Given the description of an element on the screen output the (x, y) to click on. 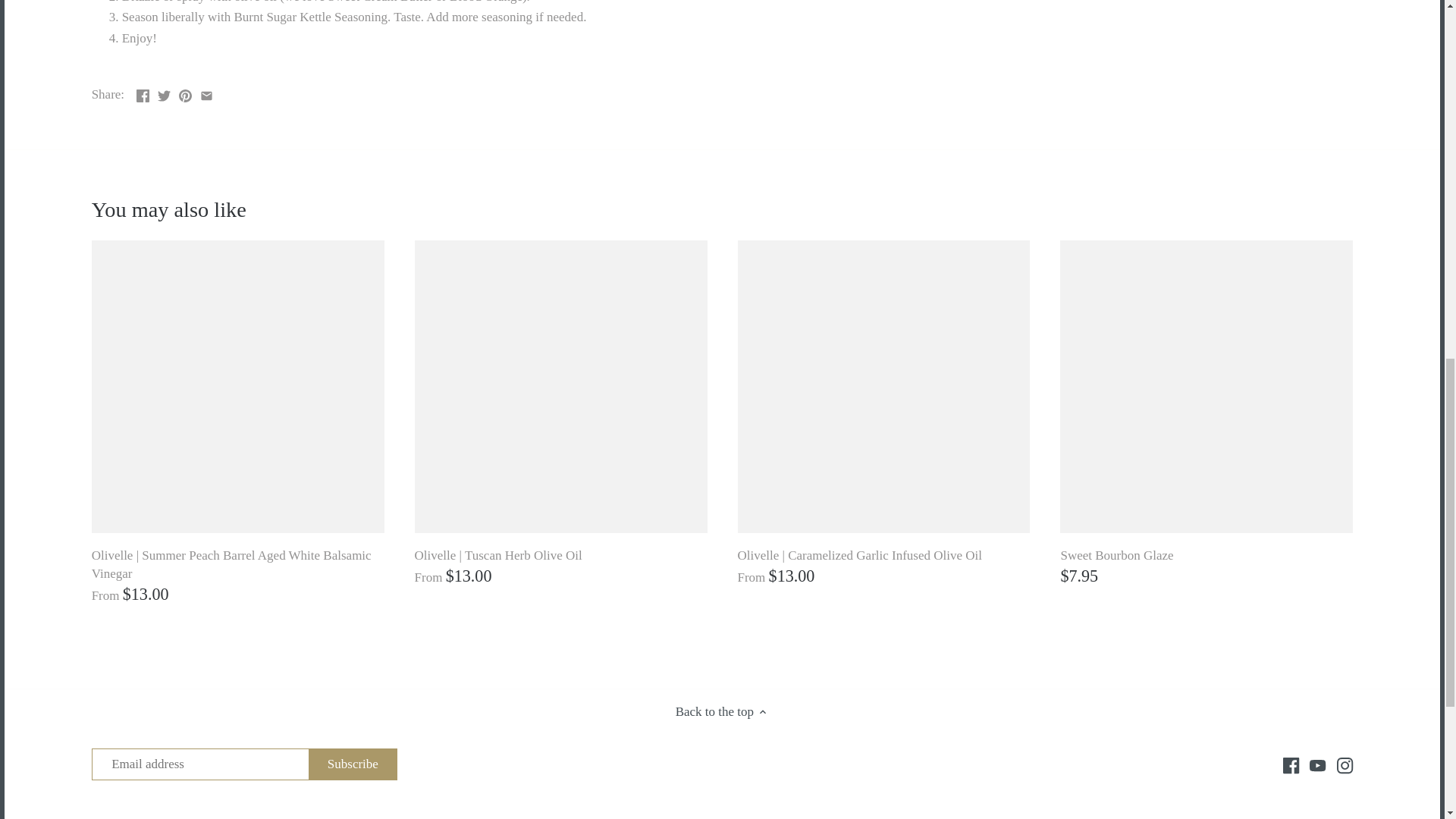
Pin the main image (185, 92)
Share using email (206, 92)
Twitter (163, 95)
Share on Twitter (163, 92)
Facebook (142, 95)
Pinterest (185, 95)
Share on Facebook (142, 92)
Facebook (1290, 765)
Email (206, 95)
Subscribe (352, 764)
